Given the description of an element on the screen output the (x, y) to click on. 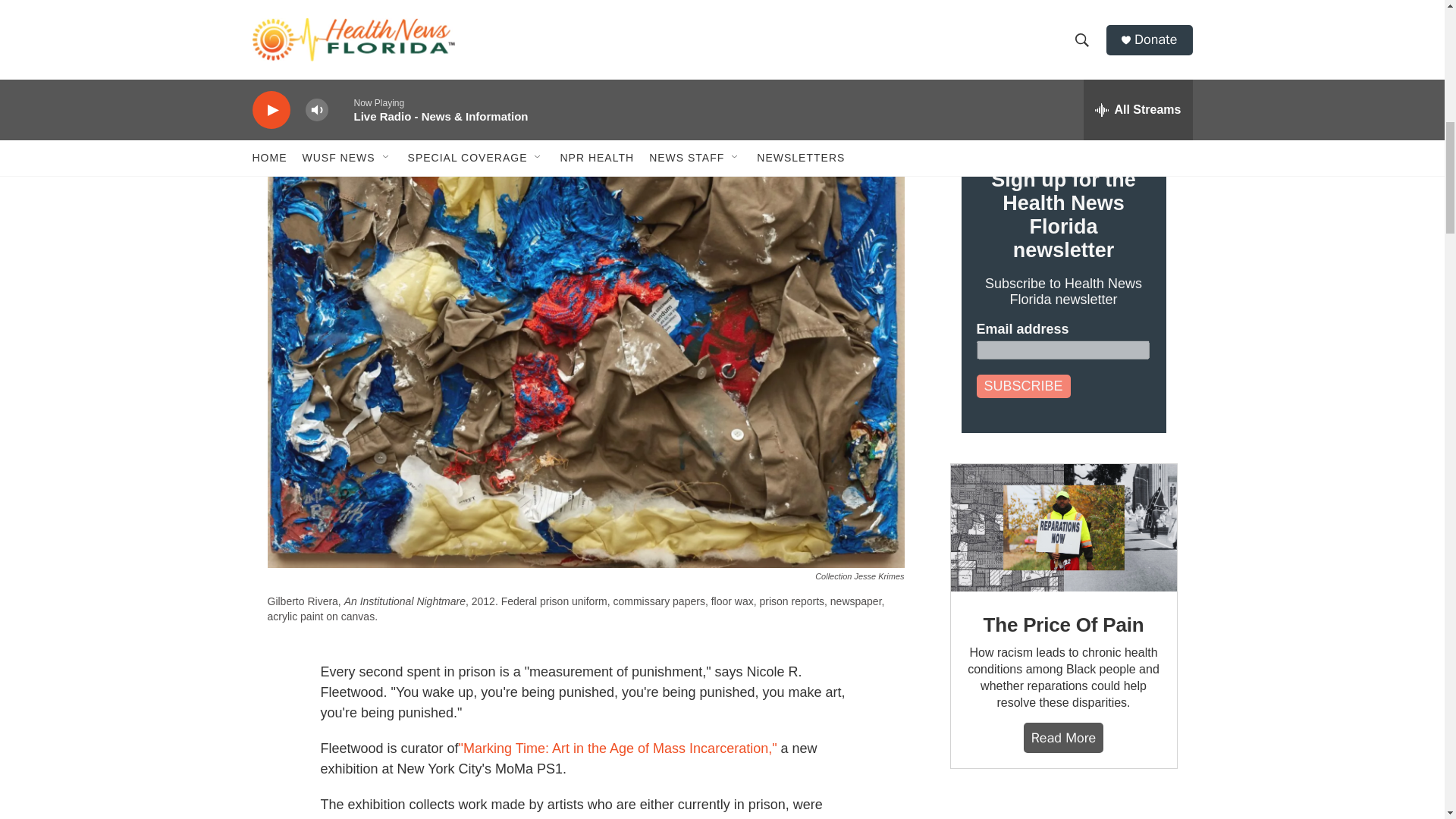
3rd party ad content (1062, 809)
